Given the description of an element on the screen output the (x, y) to click on. 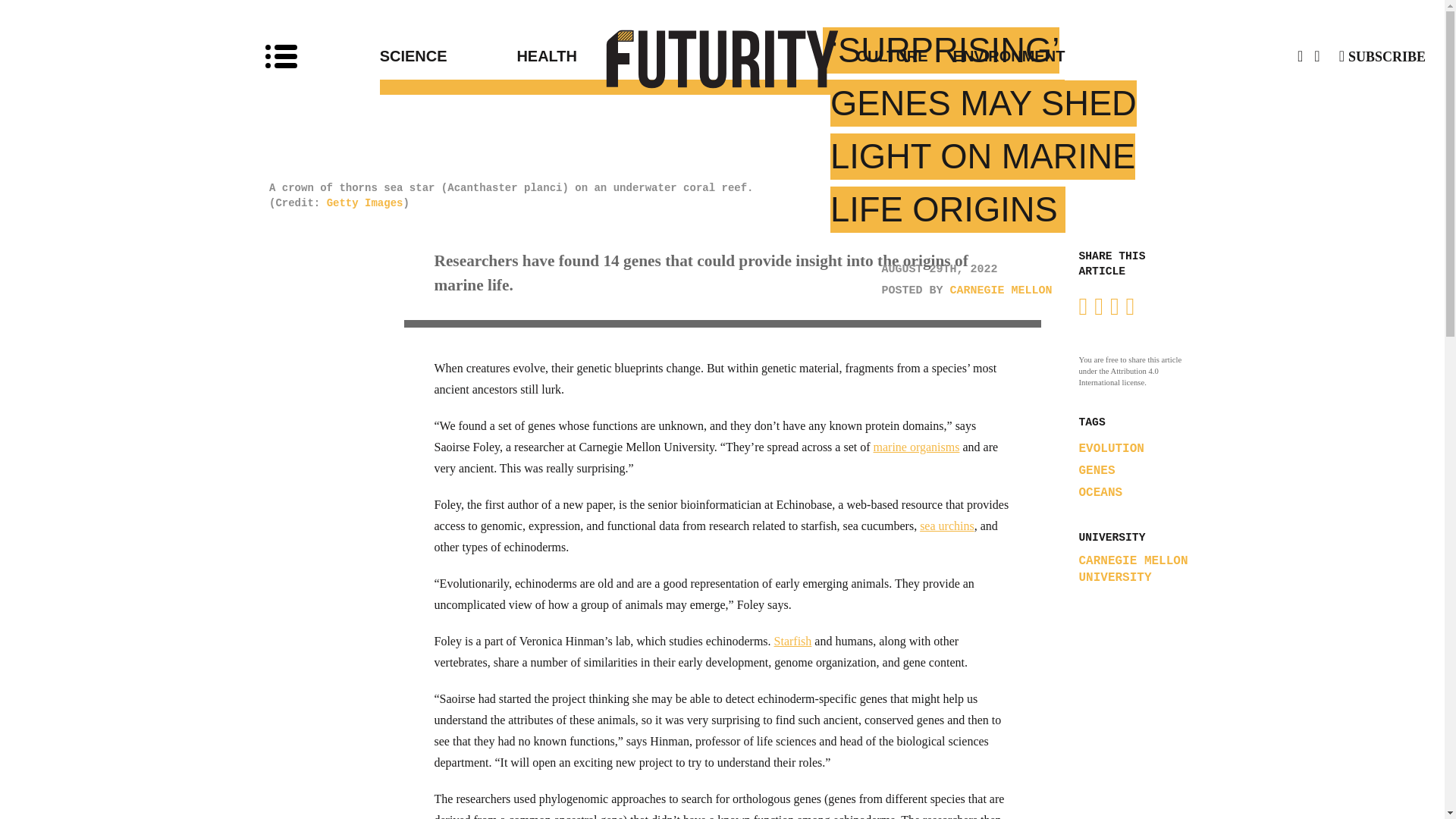
CARNEGIE MELLON UNIVERSITY (1135, 569)
GENES (1096, 470)
Culture (824, 55)
CULTURE (824, 55)
Science (448, 55)
HEALTH (619, 55)
SUBSCRIBE (1382, 56)
CARNEGIE MELLON (1001, 290)
OCEANS (1100, 492)
Health (619, 55)
